Given the description of an element on the screen output the (x, y) to click on. 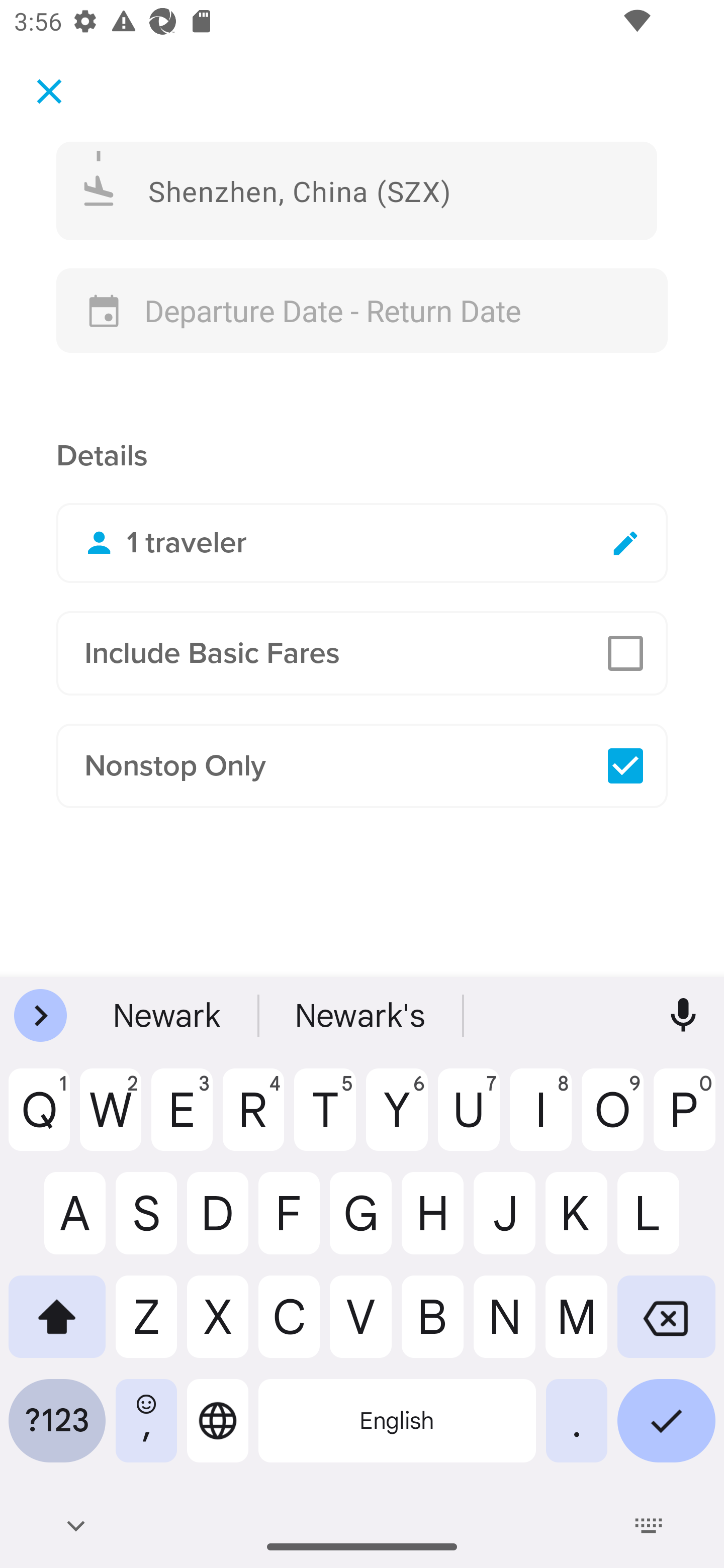
Cancel (49, 90)
Shenzhen, China (SZX) (356, 190)
Departure Date - Return Date (361, 310)
1 traveler Edit Travelers (361, 542)
Include Basic Fares (361, 653)
Nonstop Only (361, 765)
